Given the description of an element on the screen output the (x, y) to click on. 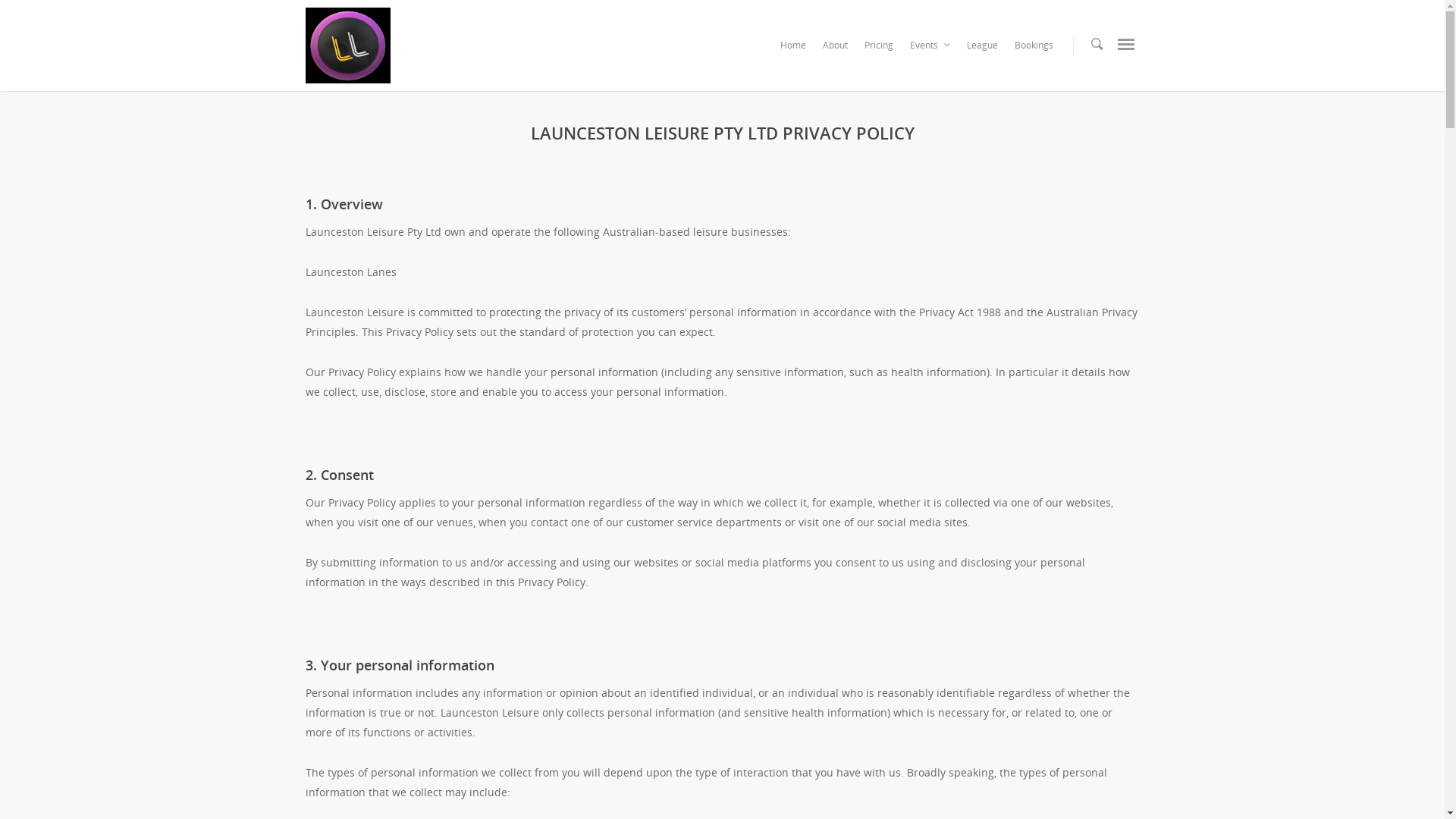
Home Element type: text (791, 49)
Pricing Element type: text (878, 49)
Events Element type: text (929, 49)
League Element type: text (981, 49)
About Element type: text (834, 49)
Bookings Element type: text (1033, 49)
